Given the description of an element on the screen output the (x, y) to click on. 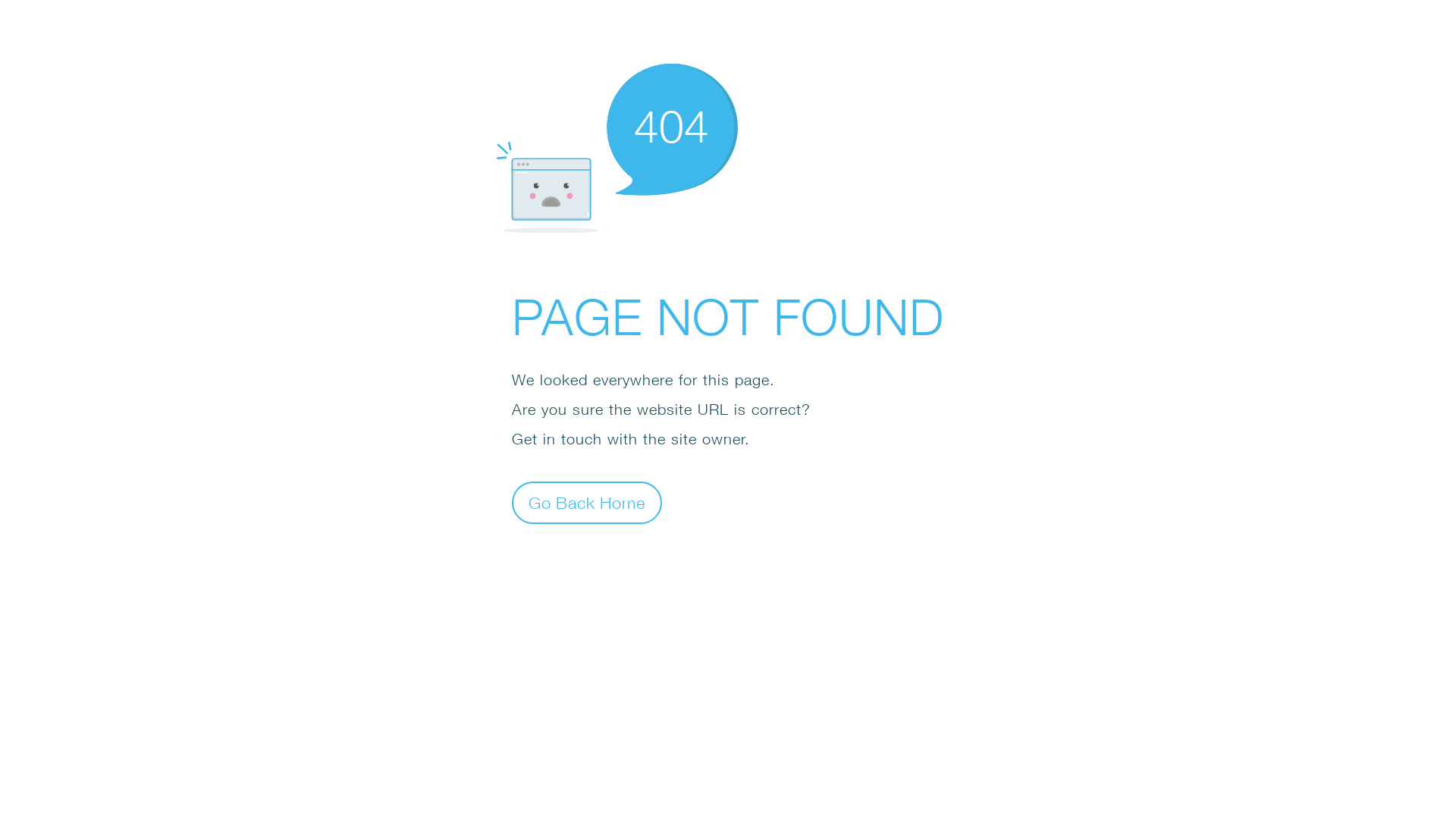
Go Back Home Element type: text (586, 502)
